Given the description of an element on the screen output the (x, y) to click on. 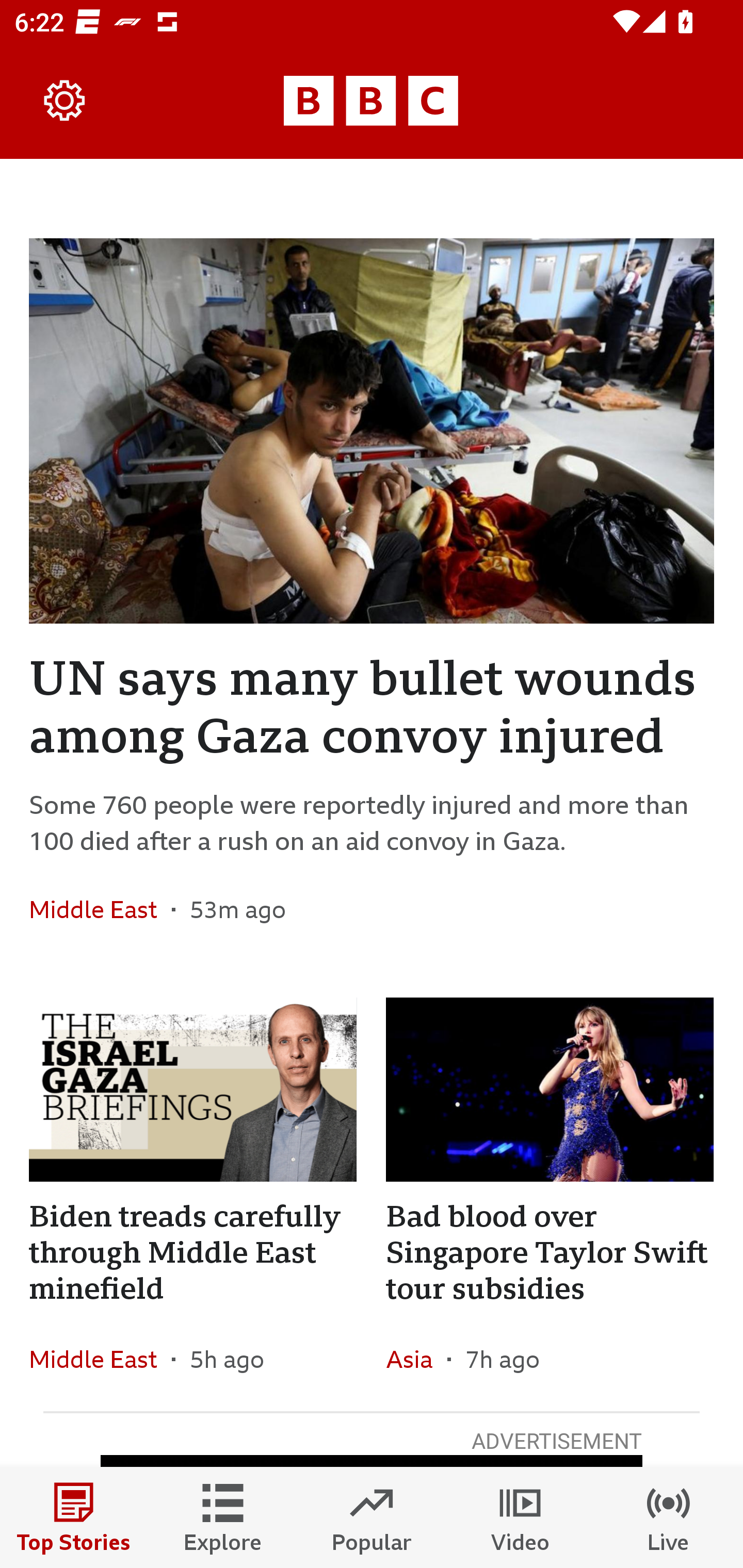
Settings (64, 100)
Middle East In the section Middle East (99, 909)
Middle East In the section Middle East (99, 1359)
Asia In the section Asia (416, 1359)
Explore (222, 1517)
Popular (371, 1517)
Video (519, 1517)
Live (668, 1517)
